Given the description of an element on the screen output the (x, y) to click on. 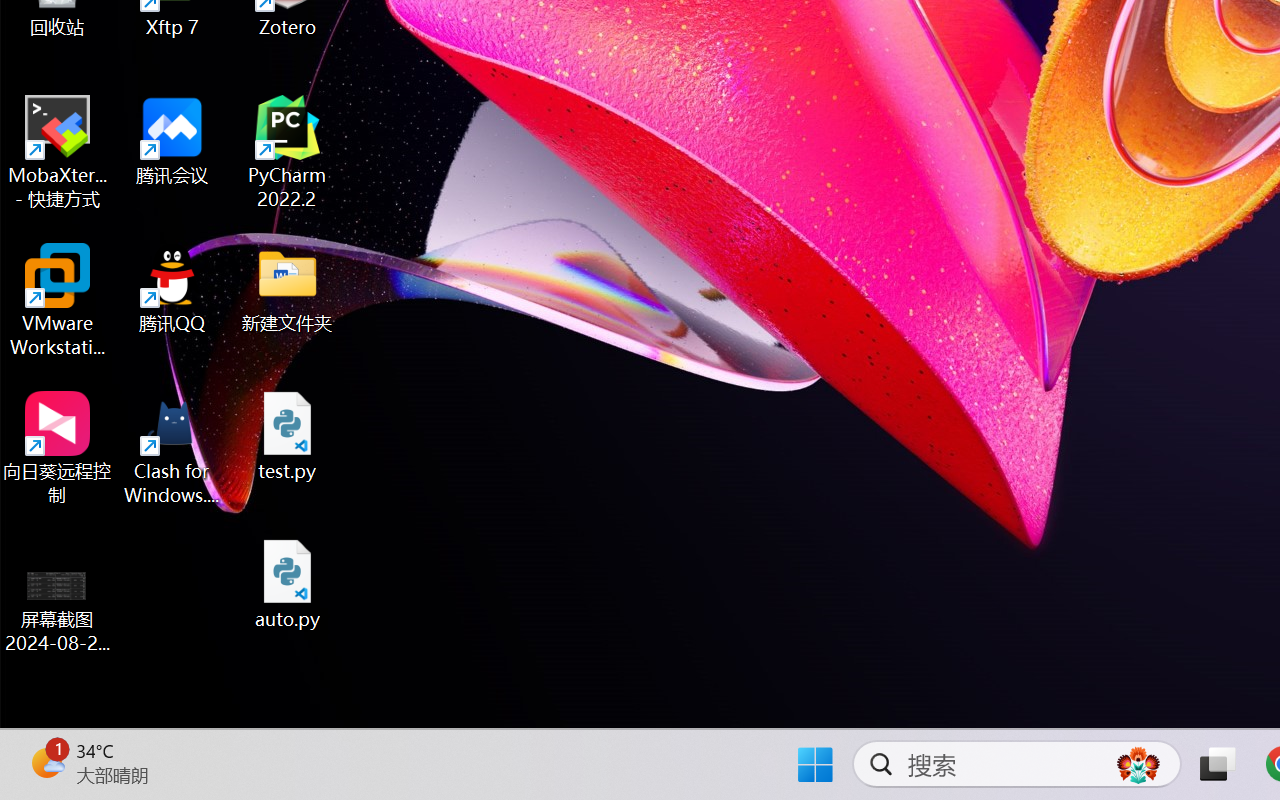
test.py (287, 436)
PyCharm 2022.2 (287, 152)
VMware Workstation Pro (57, 300)
auto.py (287, 584)
